Given the description of an element on the screen output the (x, y) to click on. 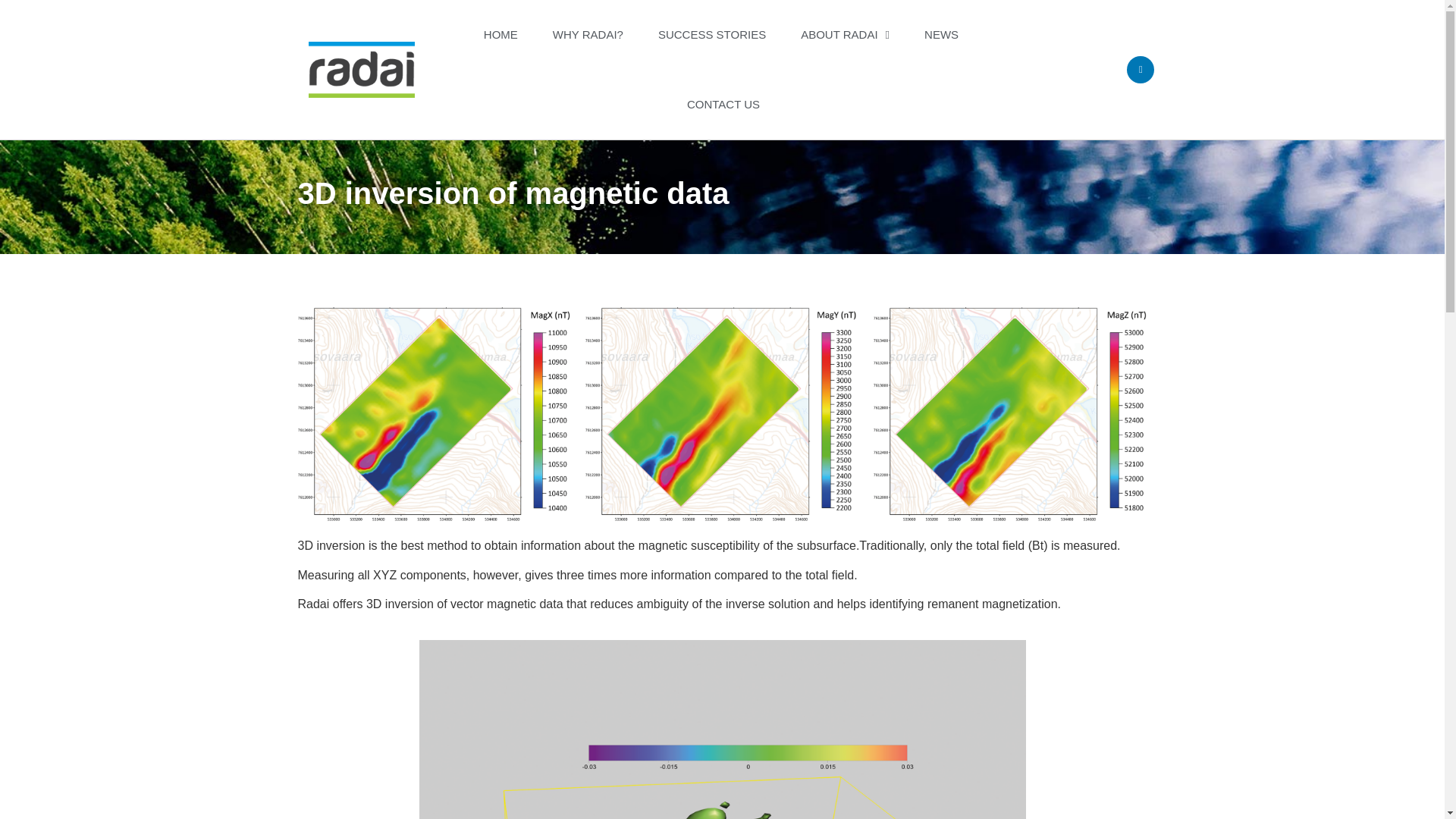
SUCCESS STORIES (711, 34)
WHY RADAI? (588, 34)
CONTACT US (722, 104)
ABOUT RADAI (845, 34)
NEWS (941, 34)
HOME (500, 34)
